Given the description of an element on the screen output the (x, y) to click on. 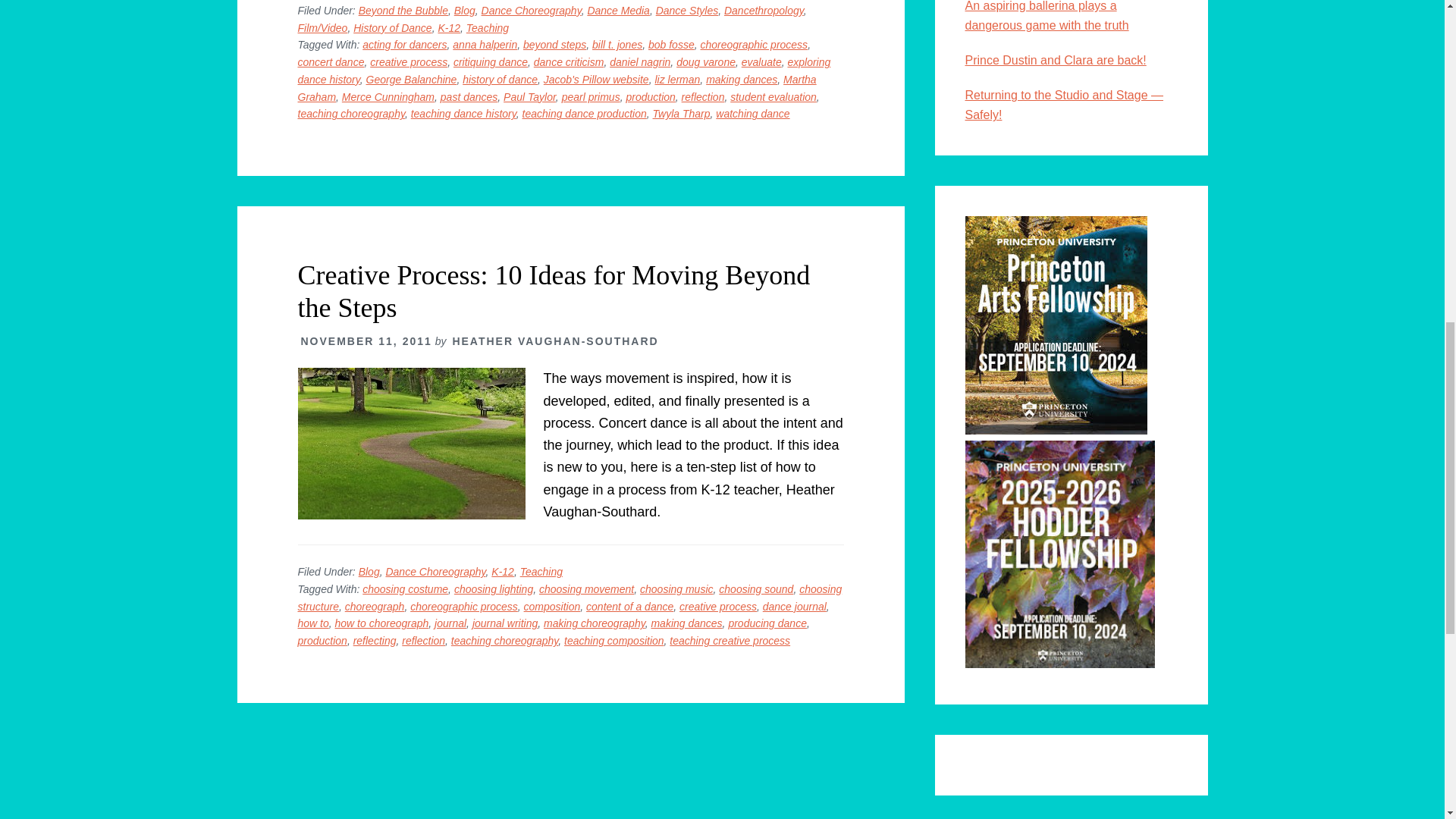
Dance Styles (686, 10)
Dance Media (617, 10)
History of Dance (391, 28)
Beyond the Bubble (403, 10)
Blog (465, 10)
K-12 (449, 28)
Dancethropology (763, 10)
Dance Choreography (530, 10)
